Given the description of an element on the screen output the (x, y) to click on. 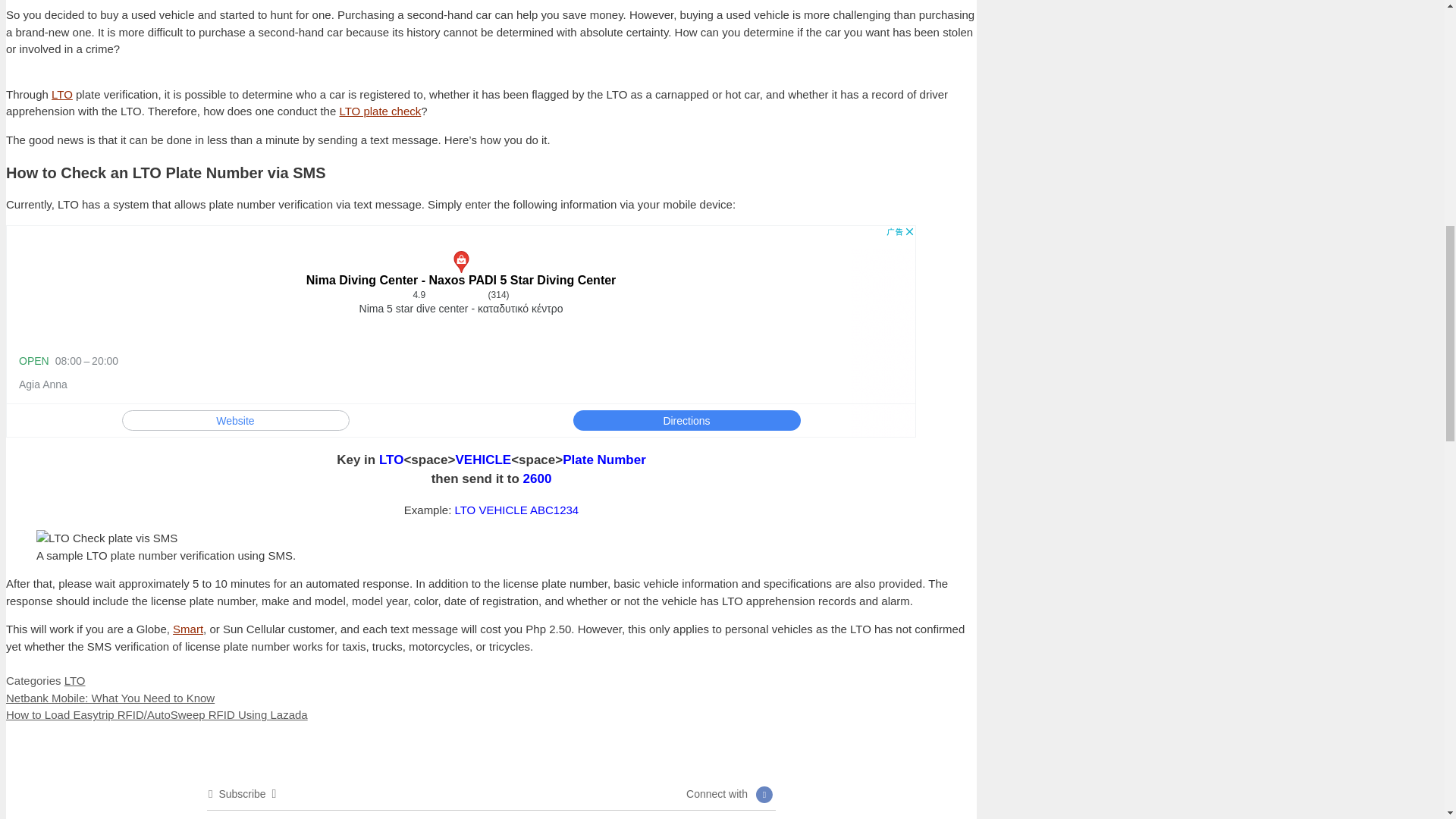
LTO (61, 93)
Netbank Mobile: What You Need to Know (109, 697)
Smart (188, 628)
LTO plate check (379, 110)
LTO (74, 680)
